Given the description of an element on the screen output the (x, y) to click on. 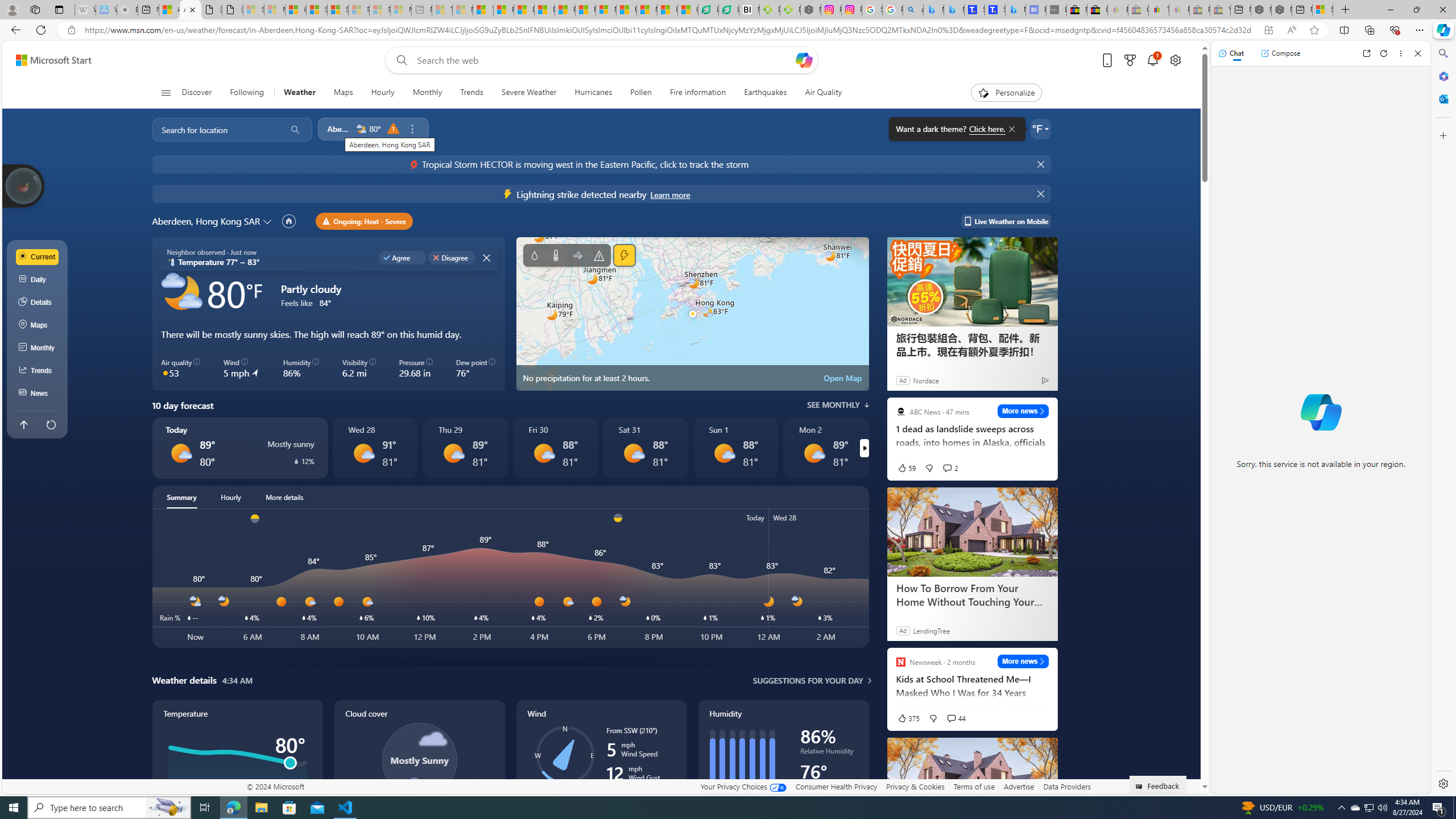
Nordace - Summer Adventures 2024 (1281, 9)
Switch right (864, 447)
Data Providers (1066, 786)
Summary (181, 496)
Temperature (556, 254)
Nvidia va a poner a prueba la paciencia de los inversores (748, 9)
Safety in Our Products - Google Safety Center (871, 9)
Ongoing: Heat - Severe (364, 221)
static map image of vector map (692, 313)
Visibility 6.2 mi (358, 368)
